Given the description of an element on the screen output the (x, y) to click on. 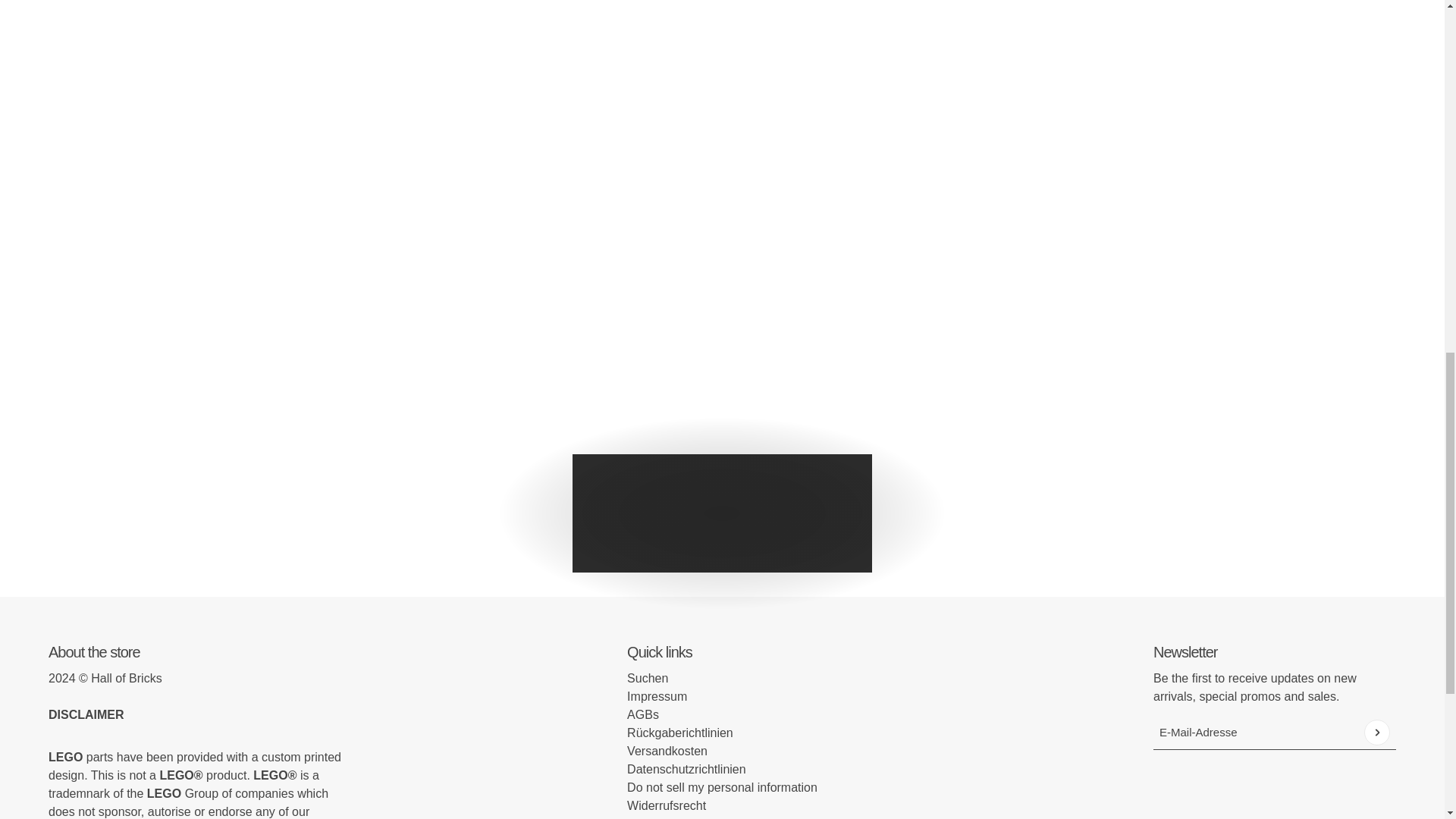
Impressum (657, 696)
Versandkosten (667, 750)
Widerrufsrecht (666, 805)
Datenschutzrichtlinien (686, 768)
AGBs (643, 714)
Do not sell my personal information (721, 787)
